Given the description of an element on the screen output the (x, y) to click on. 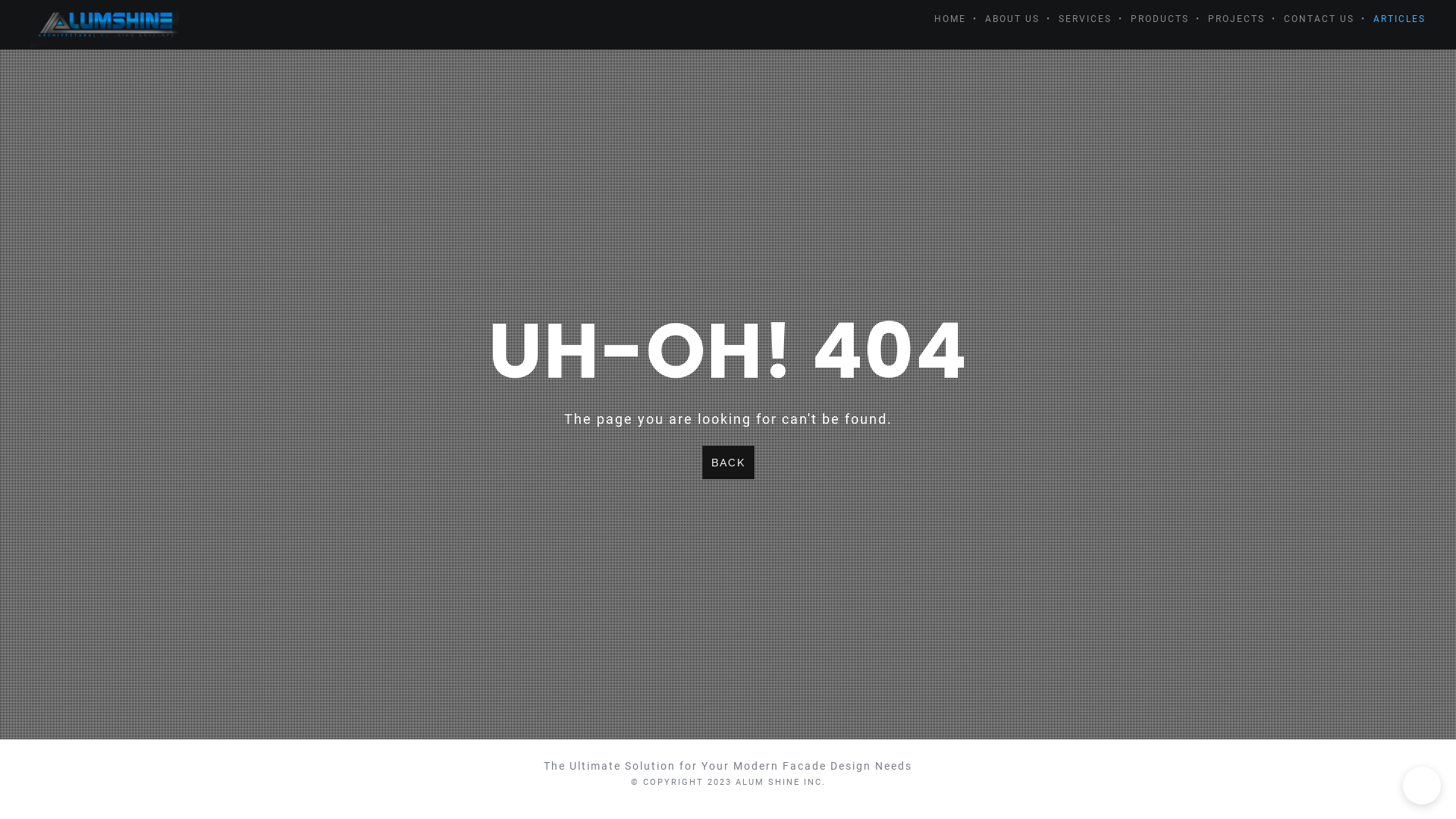
HOME Element type: text (940, 18)
PROJECTS Element type: text (1226, 18)
ABOUT US Element type: text (1002, 18)
SERVICES Element type: text (1075, 18)
AlumShine Element type: hover (104, 23)
ARTICLES Element type: text (1389, 18)
PRODUCTS Element type: text (1150, 18)
CONTACT US Element type: text (1309, 18)
BACK Element type: text (728, 462)
